Given the description of an element on the screen output the (x, y) to click on. 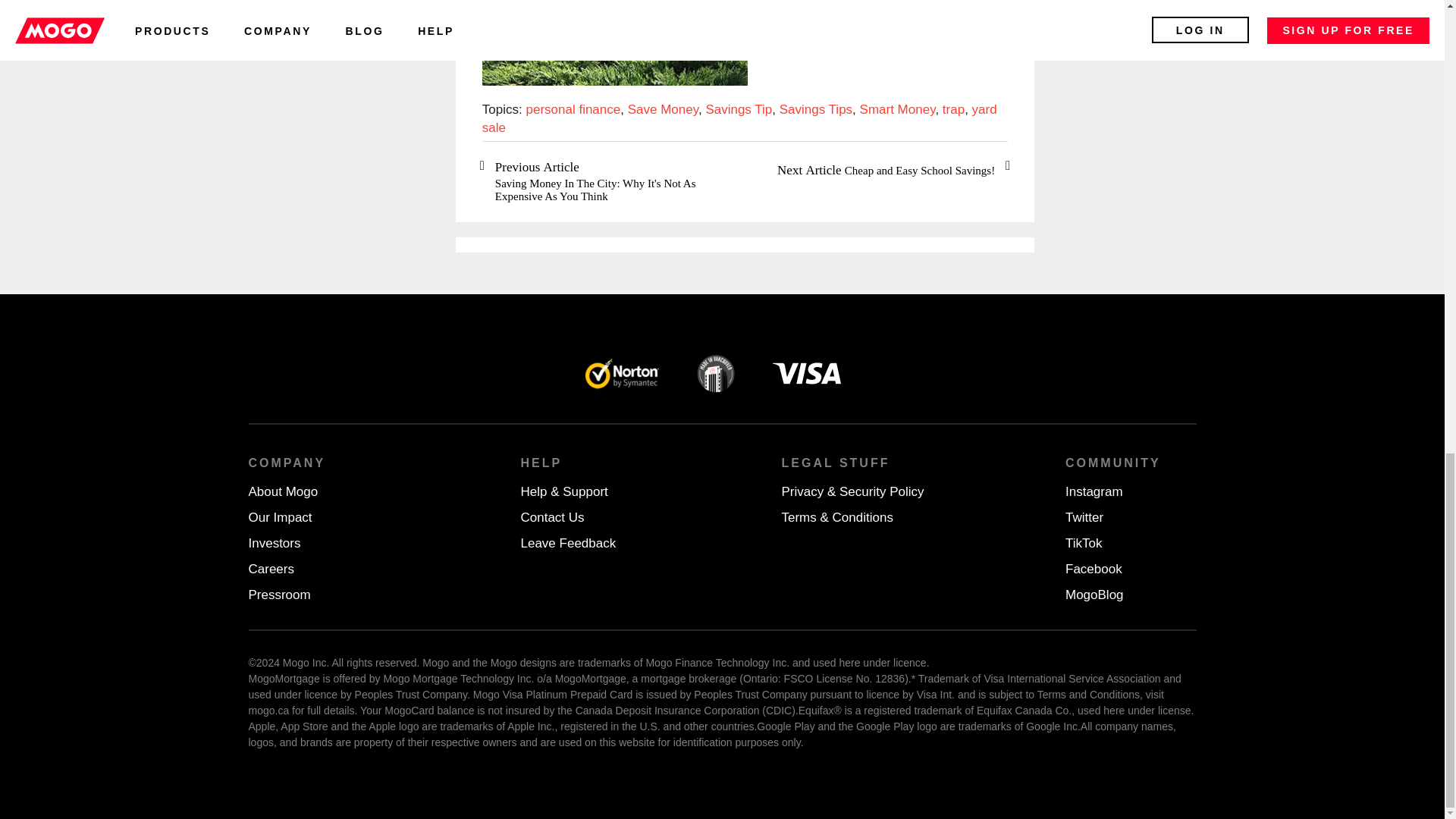
yardsalesign (614, 42)
